Given the description of an element on the screen output the (x, y) to click on. 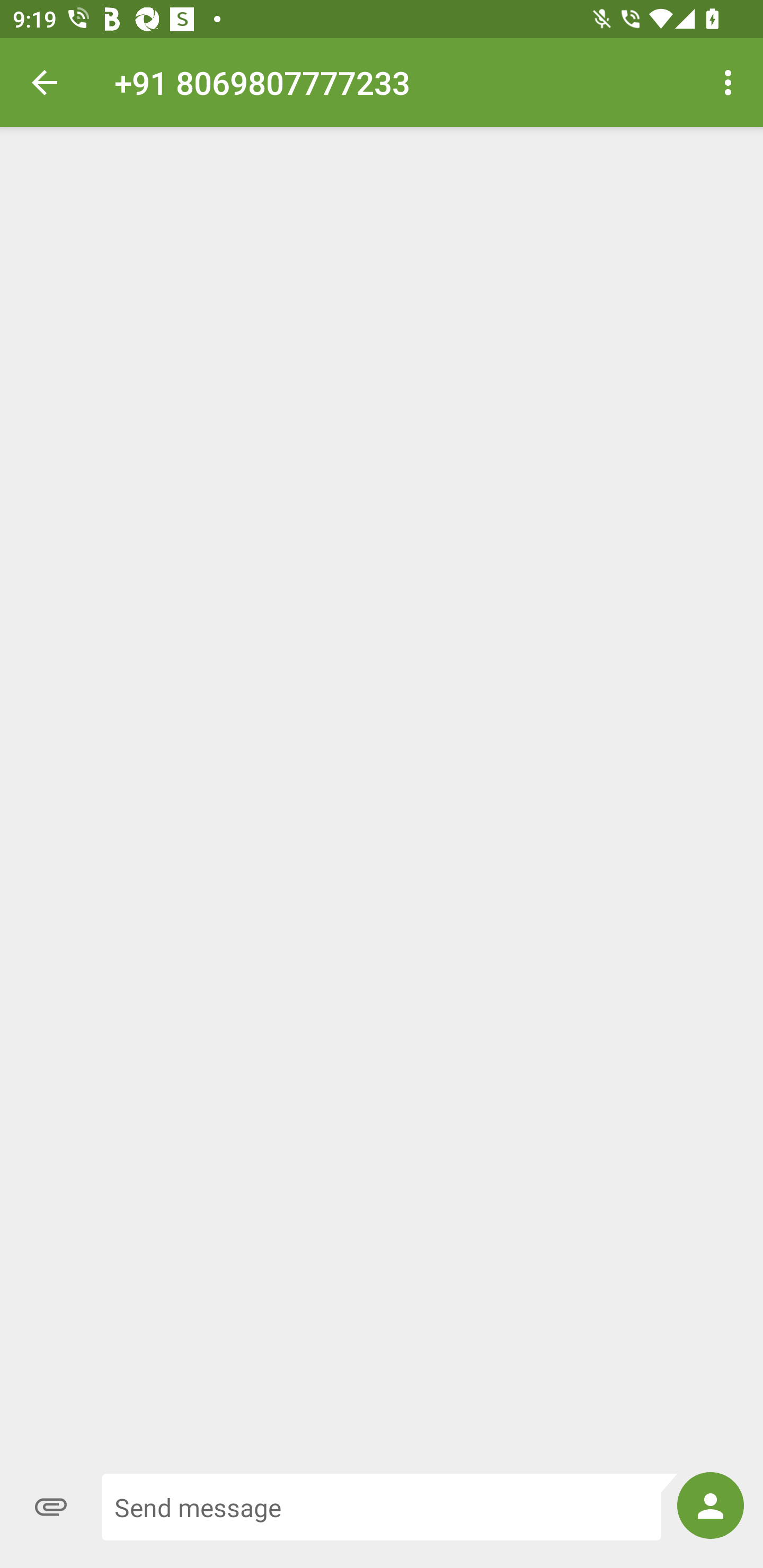
Navigate up (44, 82)
More options (731, 81)
Add an attachment (50, 1506)
Send message (389, 1506)
